Given the description of an element on the screen output the (x, y) to click on. 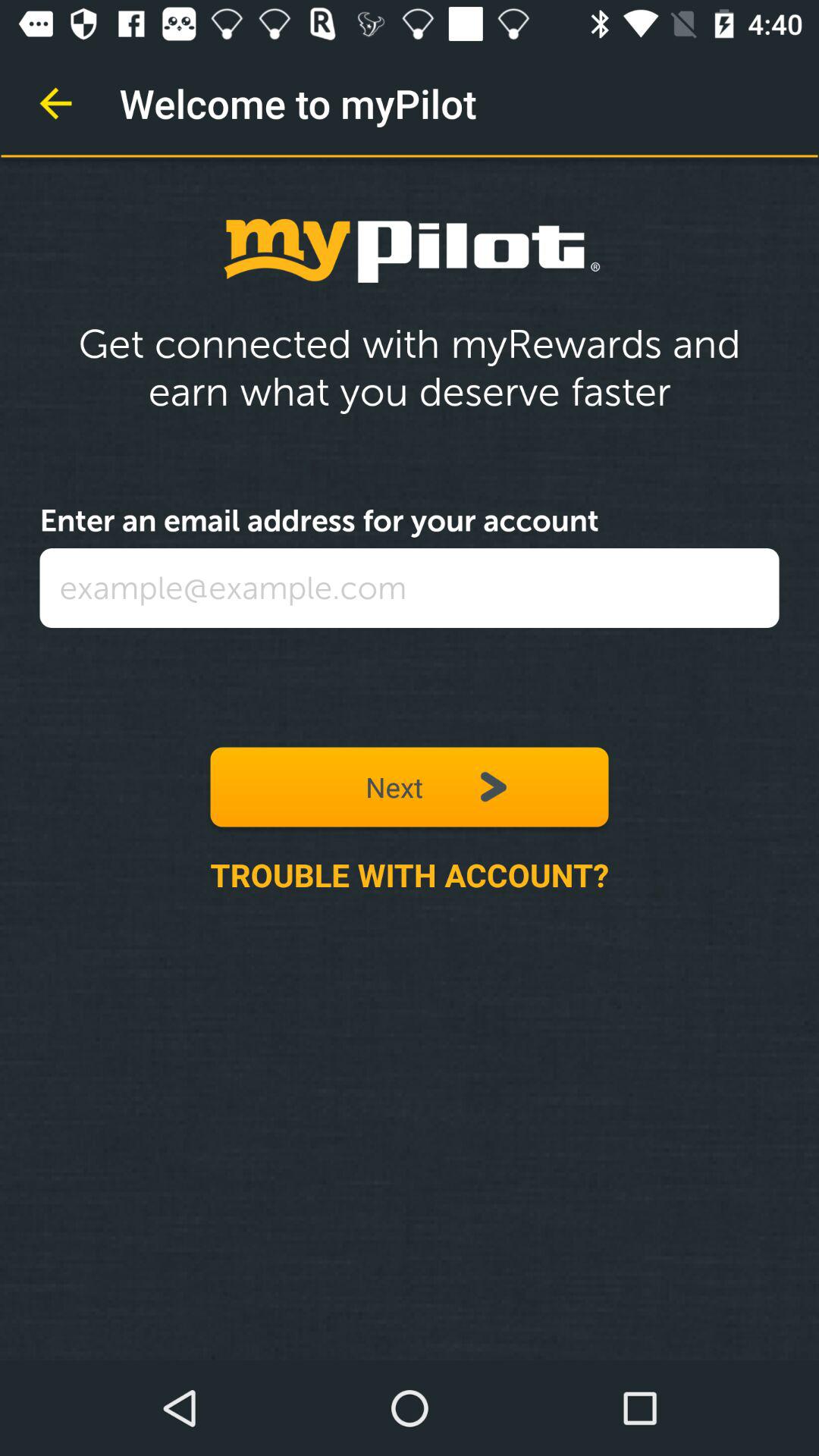
turn on the next (409, 786)
